Given the description of an element on the screen output the (x, y) to click on. 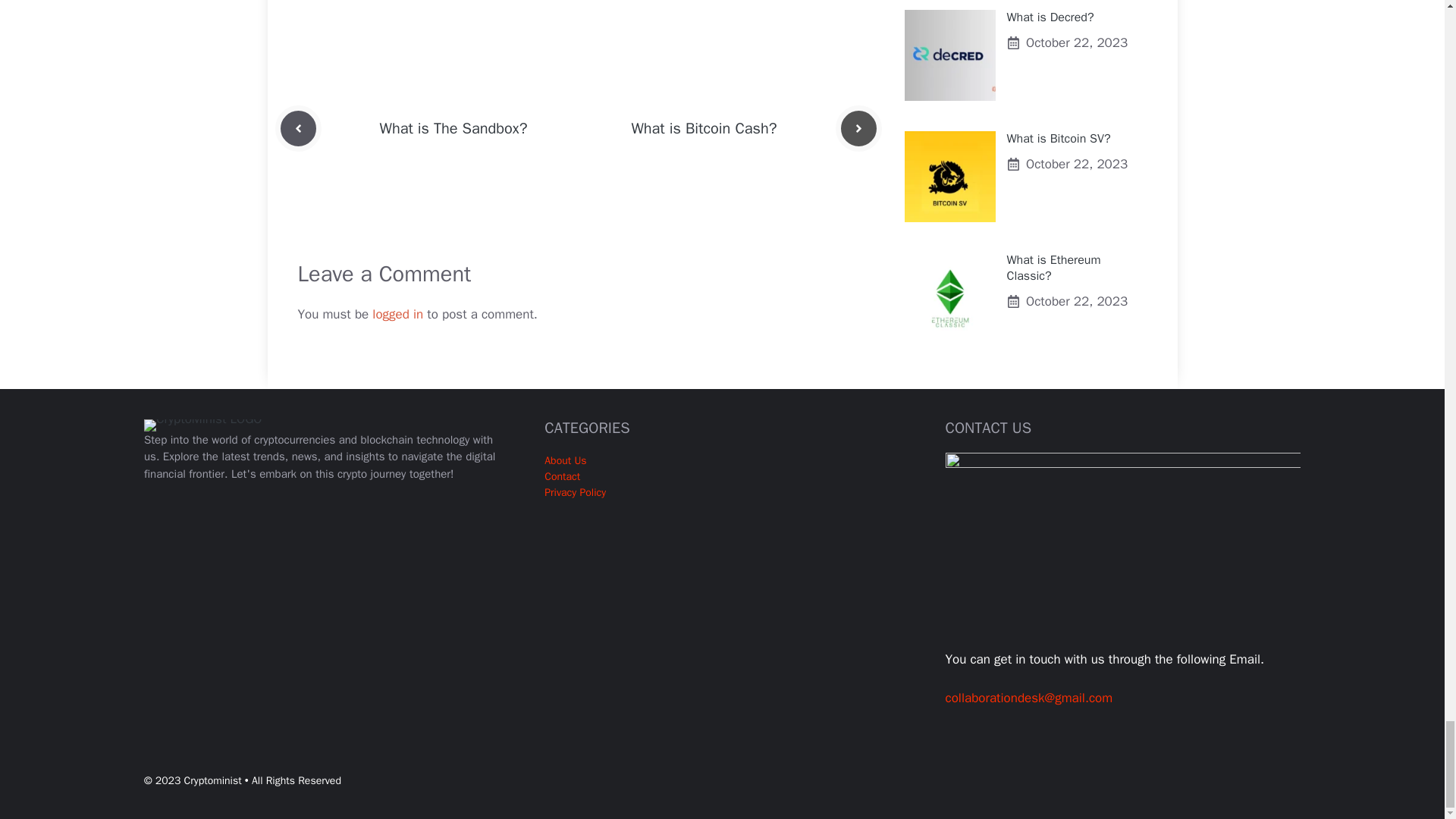
Contact-Us (1122, 551)
What is Bitcoin Cash? (703, 128)
What is The Sandbox? (452, 128)
logged in (397, 313)
